Given the description of an element on the screen output the (x, y) to click on. 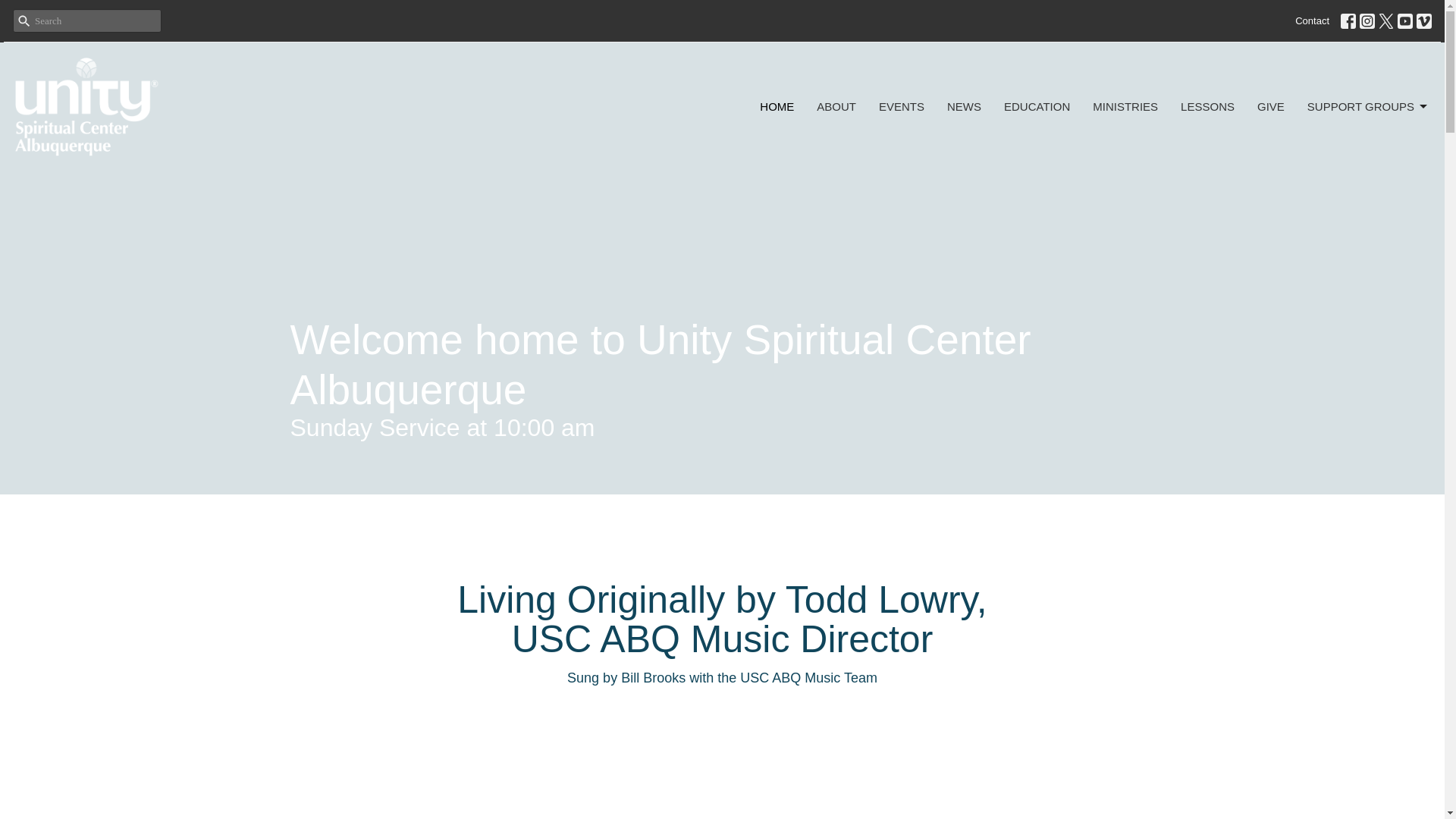
GIVE (1270, 106)
EVENTS (901, 106)
MINISTRIES (1125, 106)
Contact (1311, 20)
SUPPORT GROUPS (1368, 106)
ABOUT (836, 106)
EDUCATION (1037, 106)
LESSONS (1207, 106)
HOME (776, 106)
NEWS (964, 106)
